Given the description of an element on the screen output the (x, y) to click on. 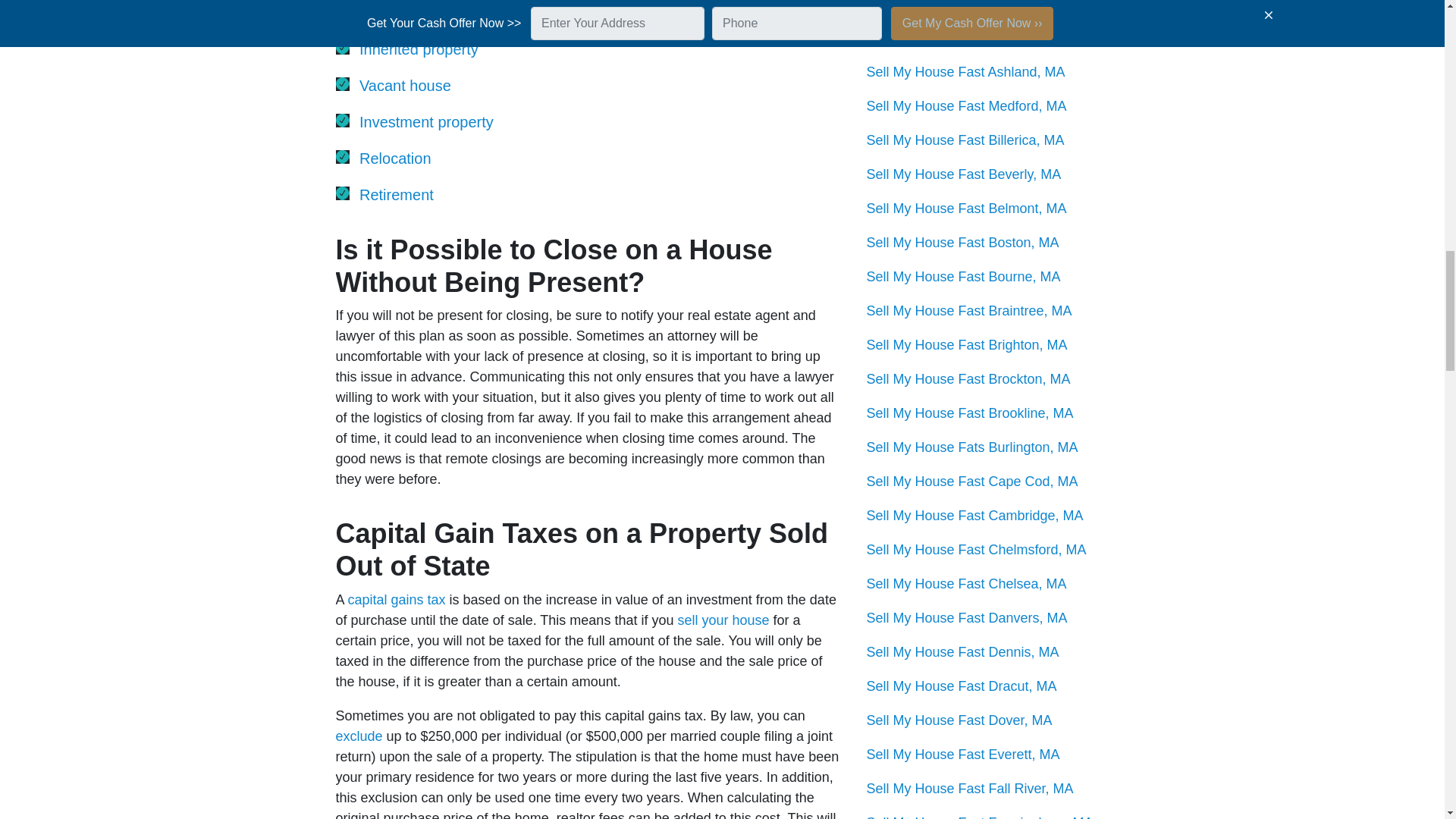
capital gains tax (396, 599)
Relocation (394, 158)
exclude (357, 735)
Retirement (396, 194)
sell your house (722, 620)
Inherited property (419, 48)
Vacant house (405, 85)
Investment property (426, 121)
